Given the description of an element on the screen output the (x, y) to click on. 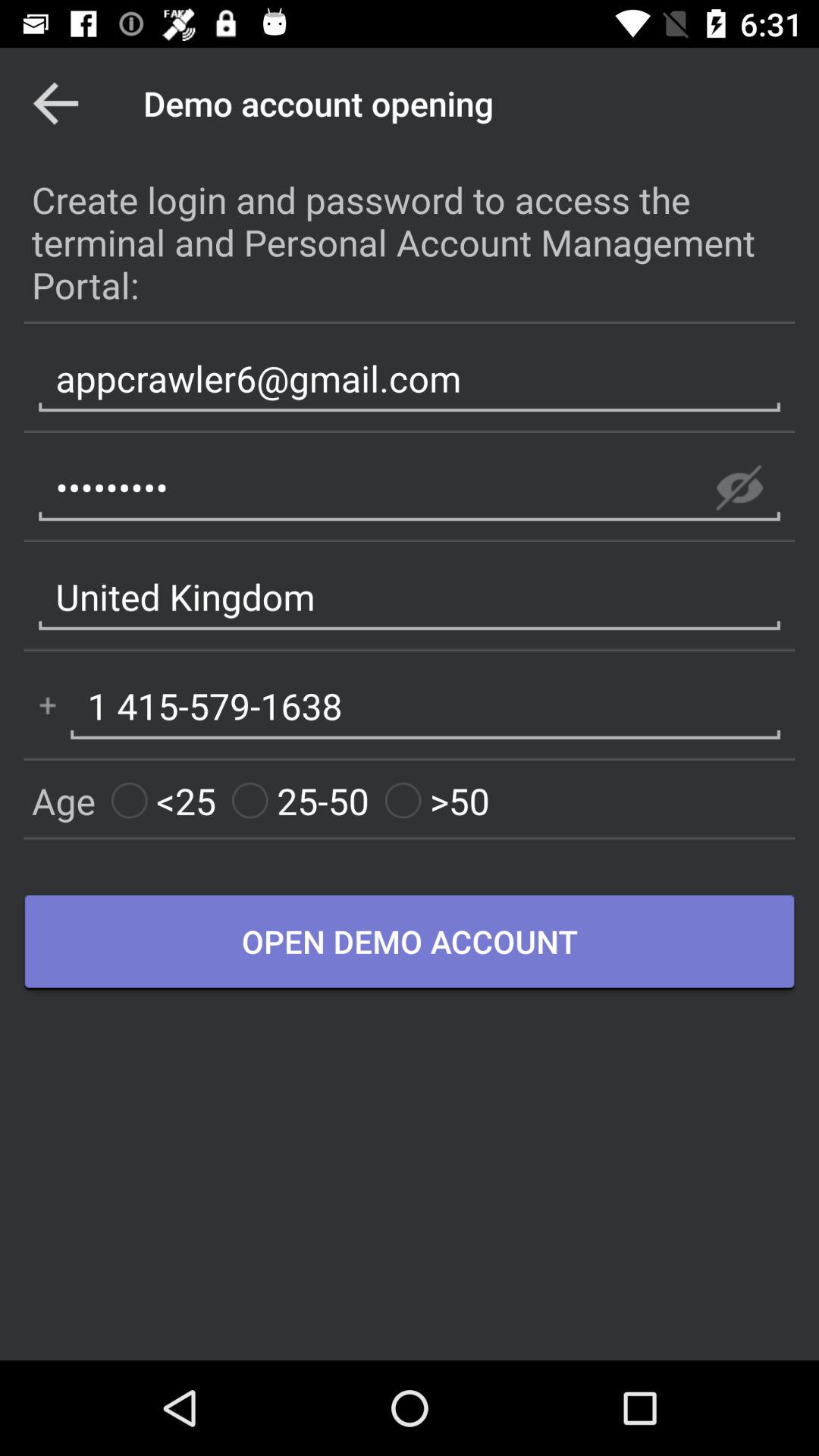
show or hide password (739, 487)
